Given the description of an element on the screen output the (x, y) to click on. 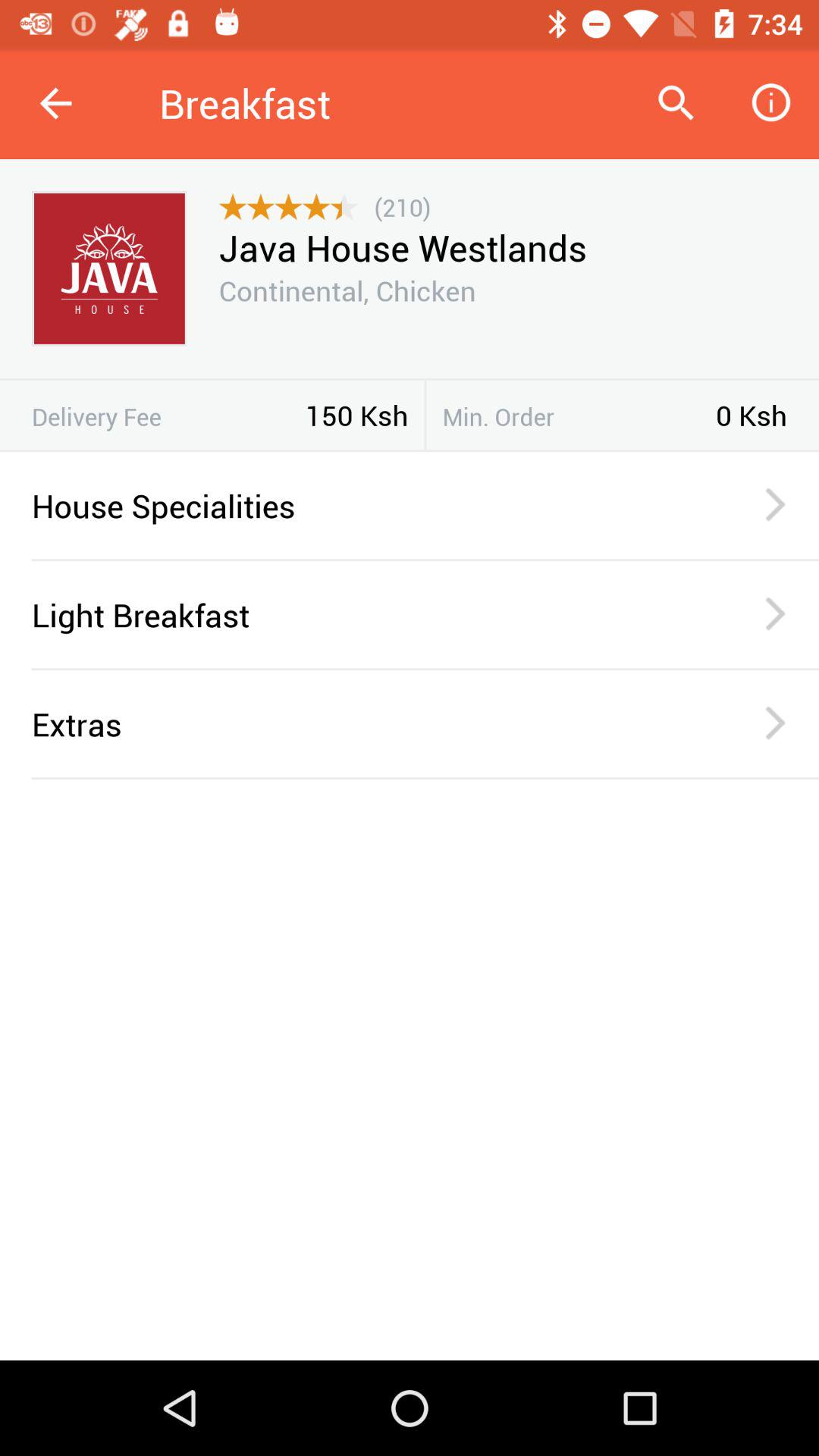
flip to the 150 ksh (356, 414)
